Given the description of an element on the screen output the (x, y) to click on. 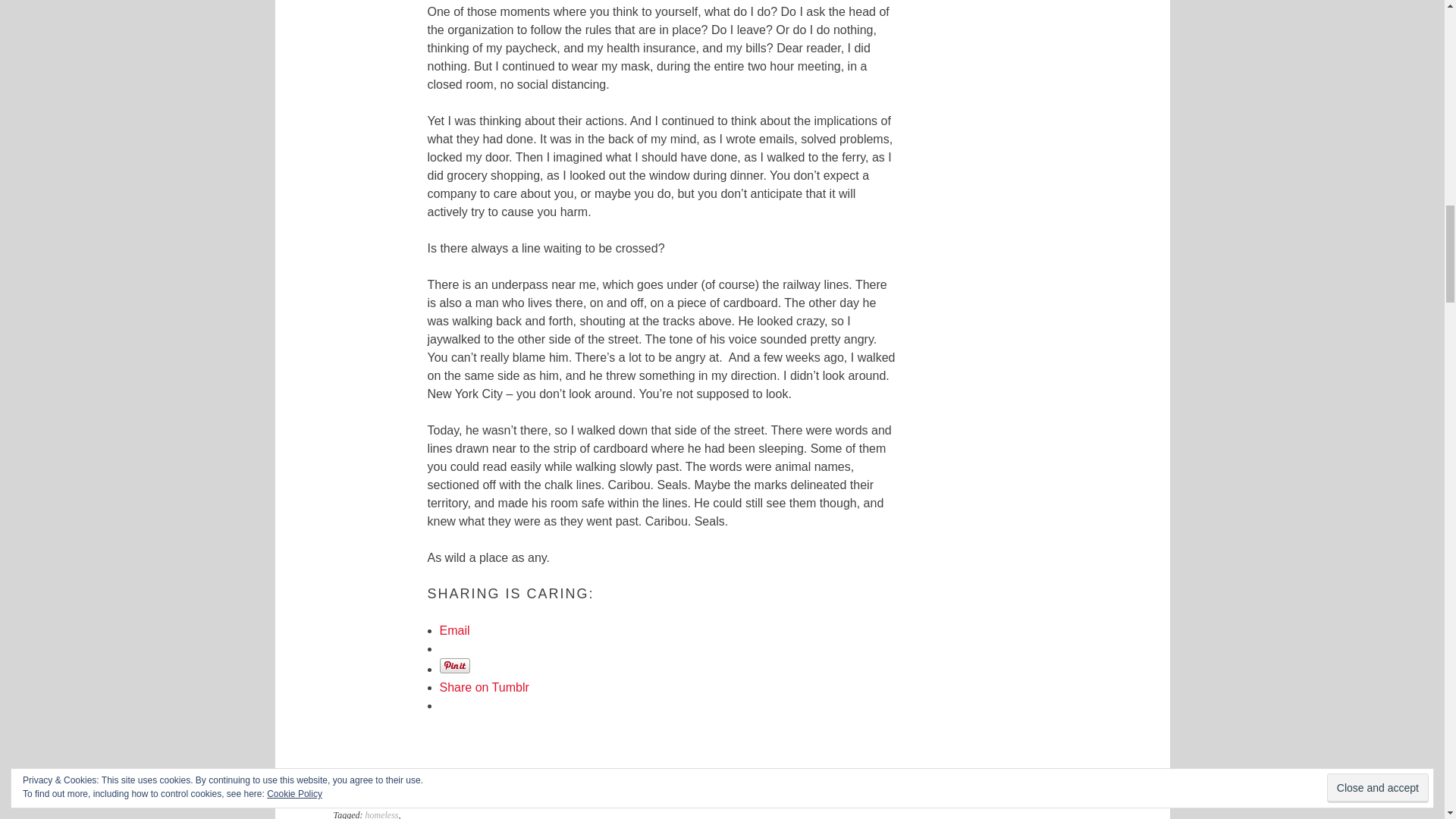
Click to email a link to a friend (454, 630)
homeless (381, 814)
Email (454, 630)
fighting back (371, 787)
Share on Tumblr (484, 686)
 20 Years Ago (354, 779)
Holiday Season  (361, 797)
pandemic (383, 796)
Share on Tumblr (484, 686)
